Given the description of an element on the screen output the (x, y) to click on. 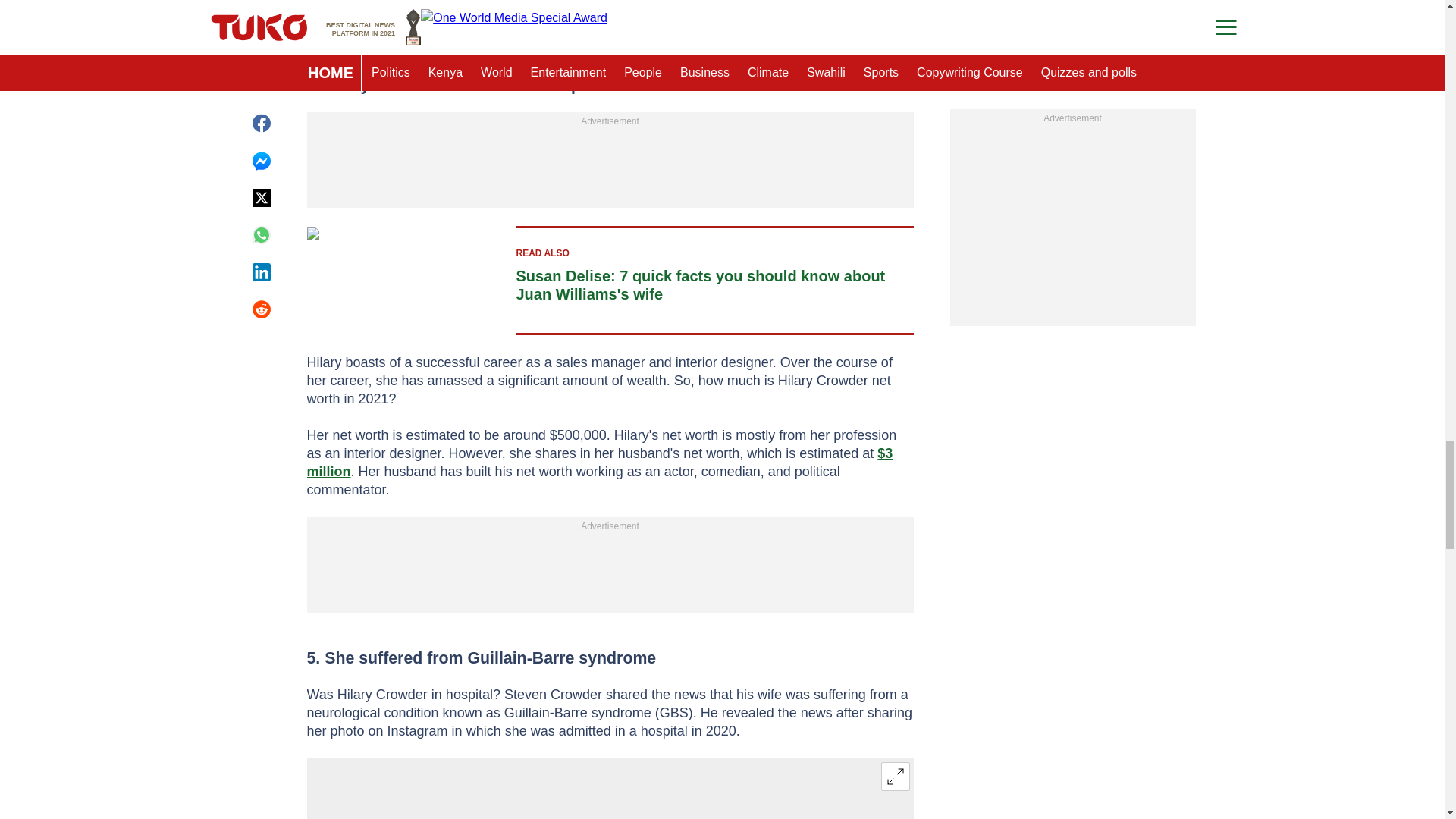
Expand image (895, 776)
